Given the description of an element on the screen output the (x, y) to click on. 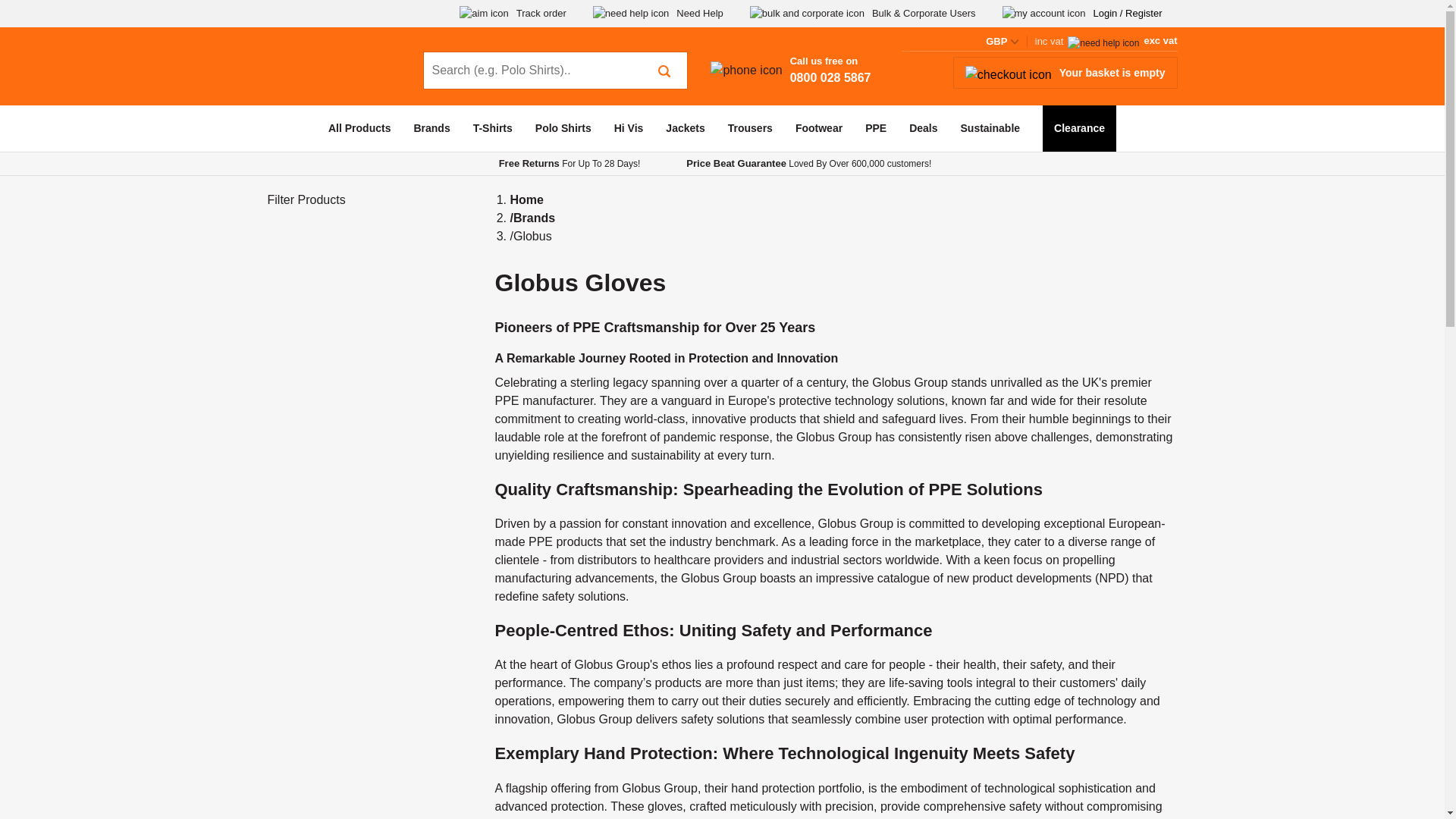
Your basket is empty (1065, 72)
All Products (359, 128)
GBP (790, 70)
Track order (1002, 41)
Need Help (513, 13)
